Given the description of an element on the screen output the (x, y) to click on. 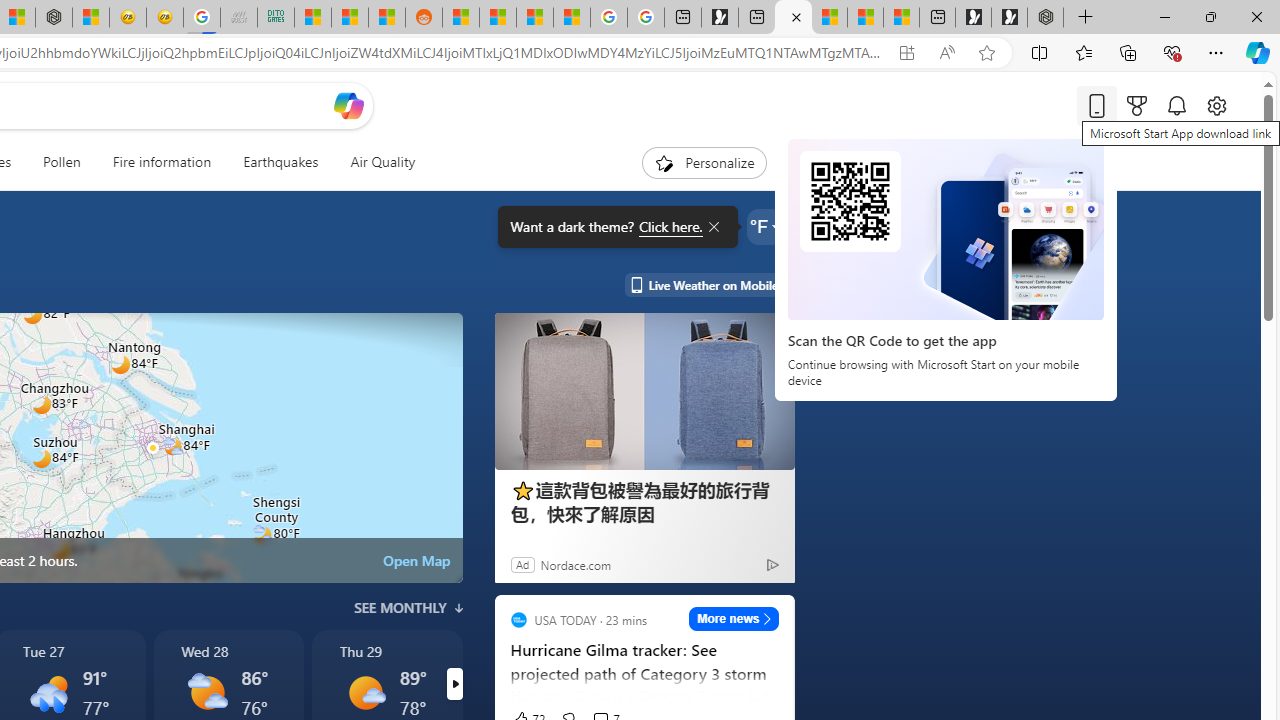
Nordace - #1 Japanese Best-Seller - Siena Smart Backpack (53, 17)
Fire information (162, 162)
Rain showers (49, 692)
Personalize (703, 162)
Play Free Online Games | Games from Microsoft Start (1009, 17)
Microsoft rewards (1137, 105)
To get missing image descriptions, open the context menu. (664, 162)
